Given the description of an element on the screen output the (x, y) to click on. 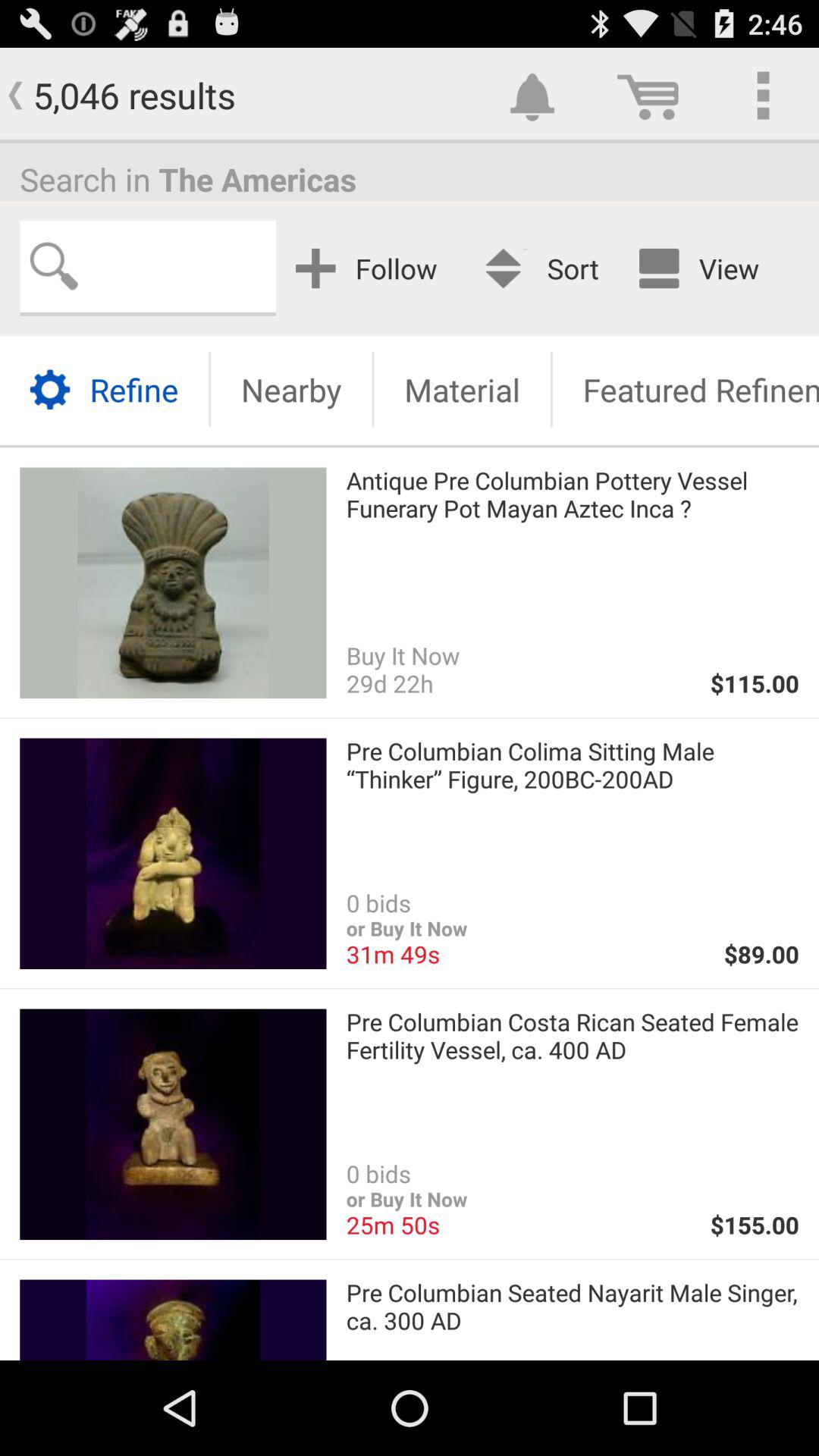
tap the nearby button (291, 389)
